Given the description of an element on the screen output the (x, y) to click on. 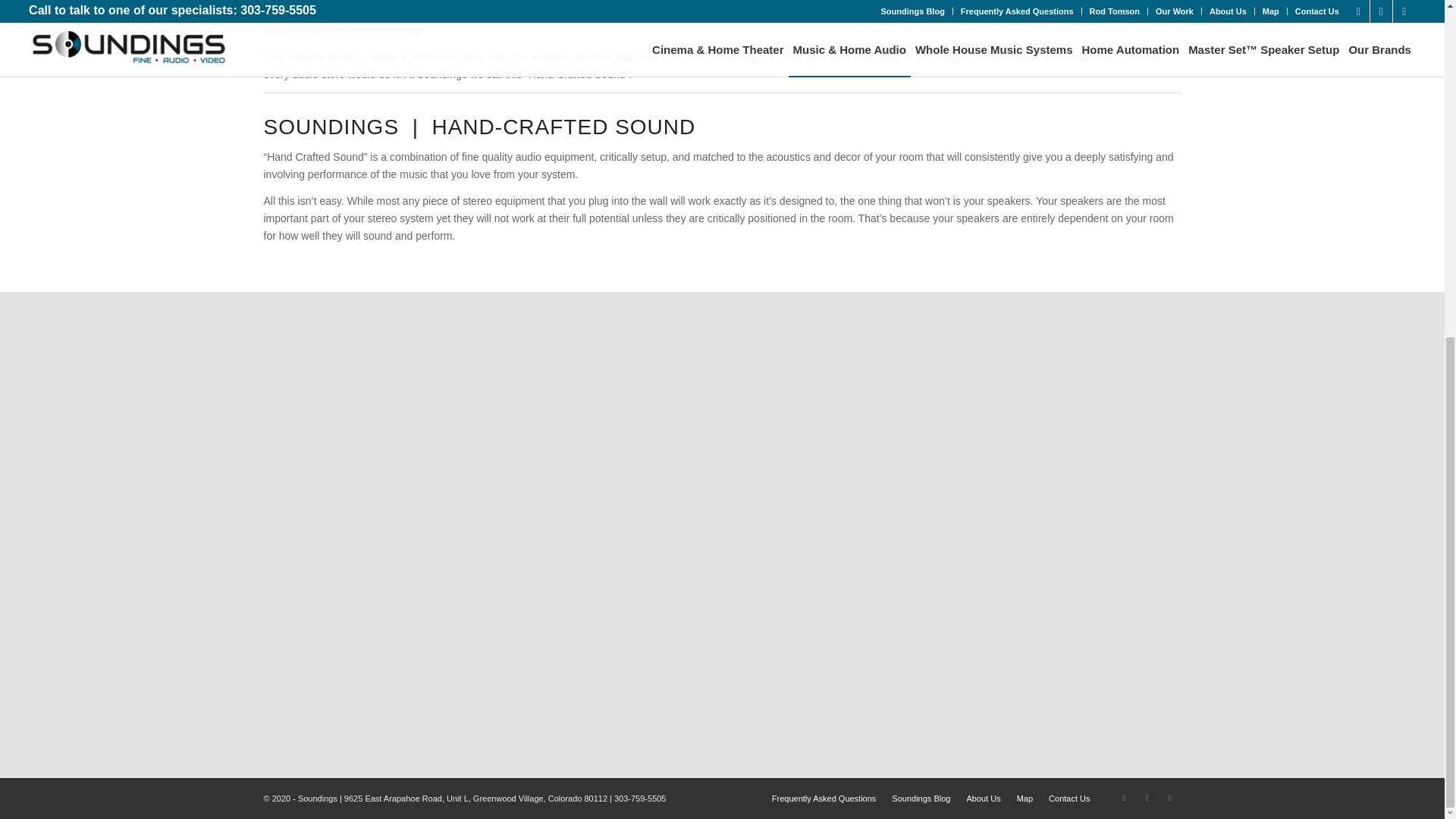
Facebook (1146, 797)
Instagram (1169, 797)
Frequently Asked Questions (823, 798)
Twitter (1124, 797)
Contact Us (1068, 798)
Soundings Blog (920, 798)
About Us (983, 798)
Map (1024, 798)
